Given the description of an element on the screen output the (x, y) to click on. 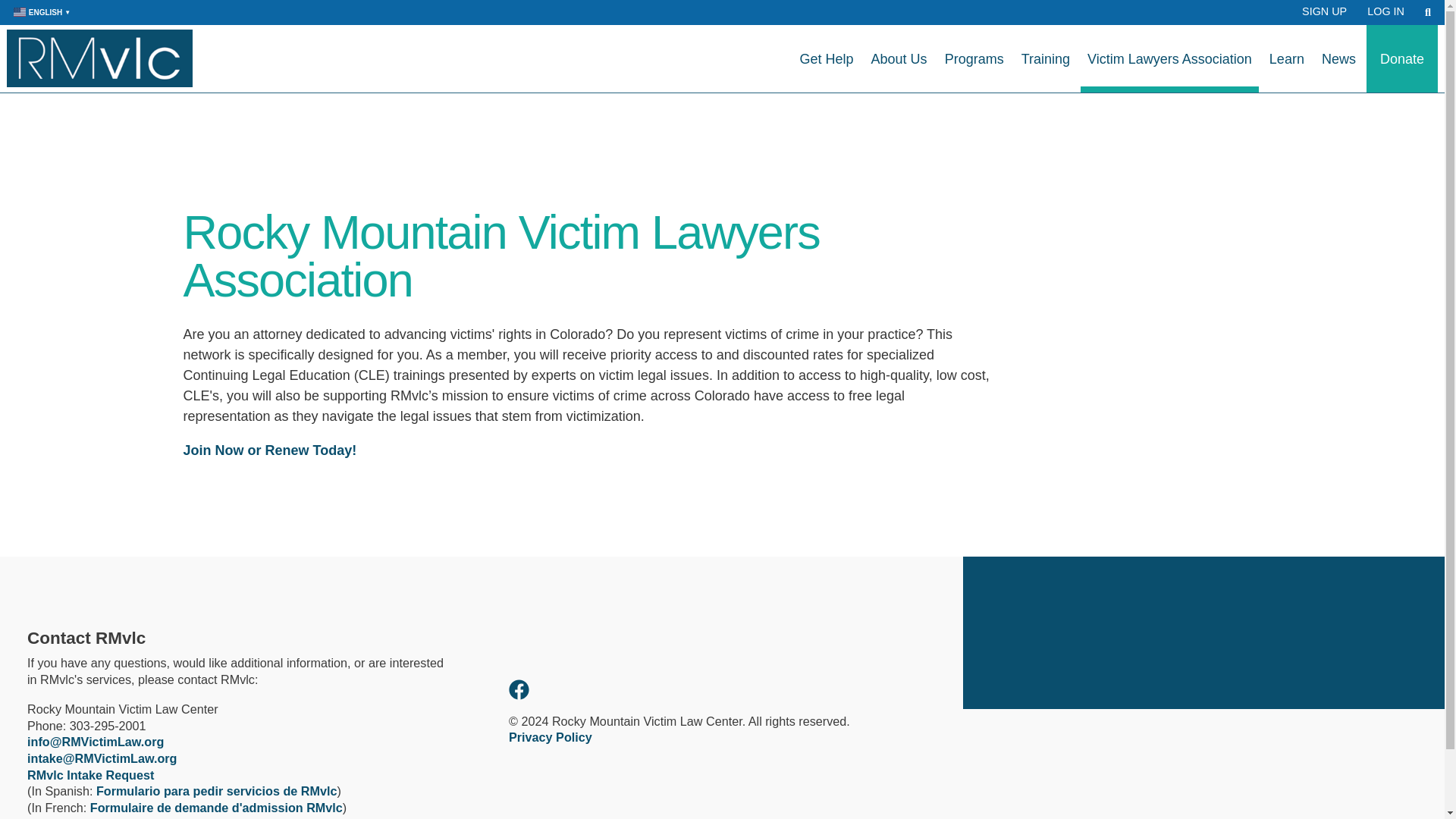
Home (99, 57)
Privacy Policy  (550, 736)
LOG IN (1386, 11)
SIGN UP (1323, 11)
